Given the description of an element on the screen output the (x, y) to click on. 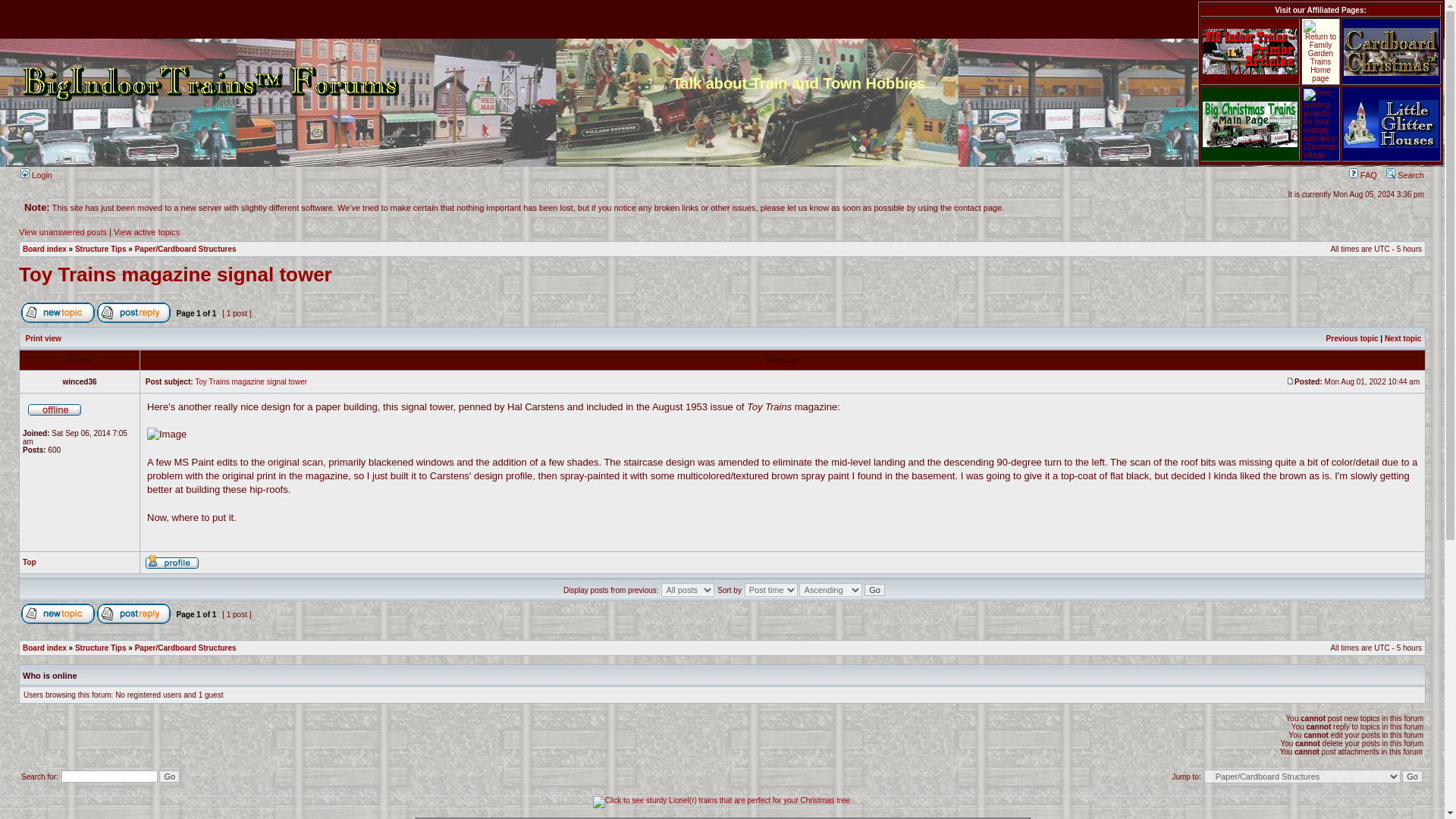
Post new topic (57, 613)
Toy Trains magazine signal tower (174, 273)
Print view (43, 337)
Post (1289, 380)
Profile (171, 561)
Board index (44, 248)
View unanswered posts (62, 231)
Toy Trains magazine signal tower (251, 381)
Go (874, 589)
Print view (43, 337)
Reply to topic (133, 312)
Structure Tips (100, 248)
Structure Tips (100, 647)
Go (874, 589)
Board index (44, 647)
